Given the description of an element on the screen output the (x, y) to click on. 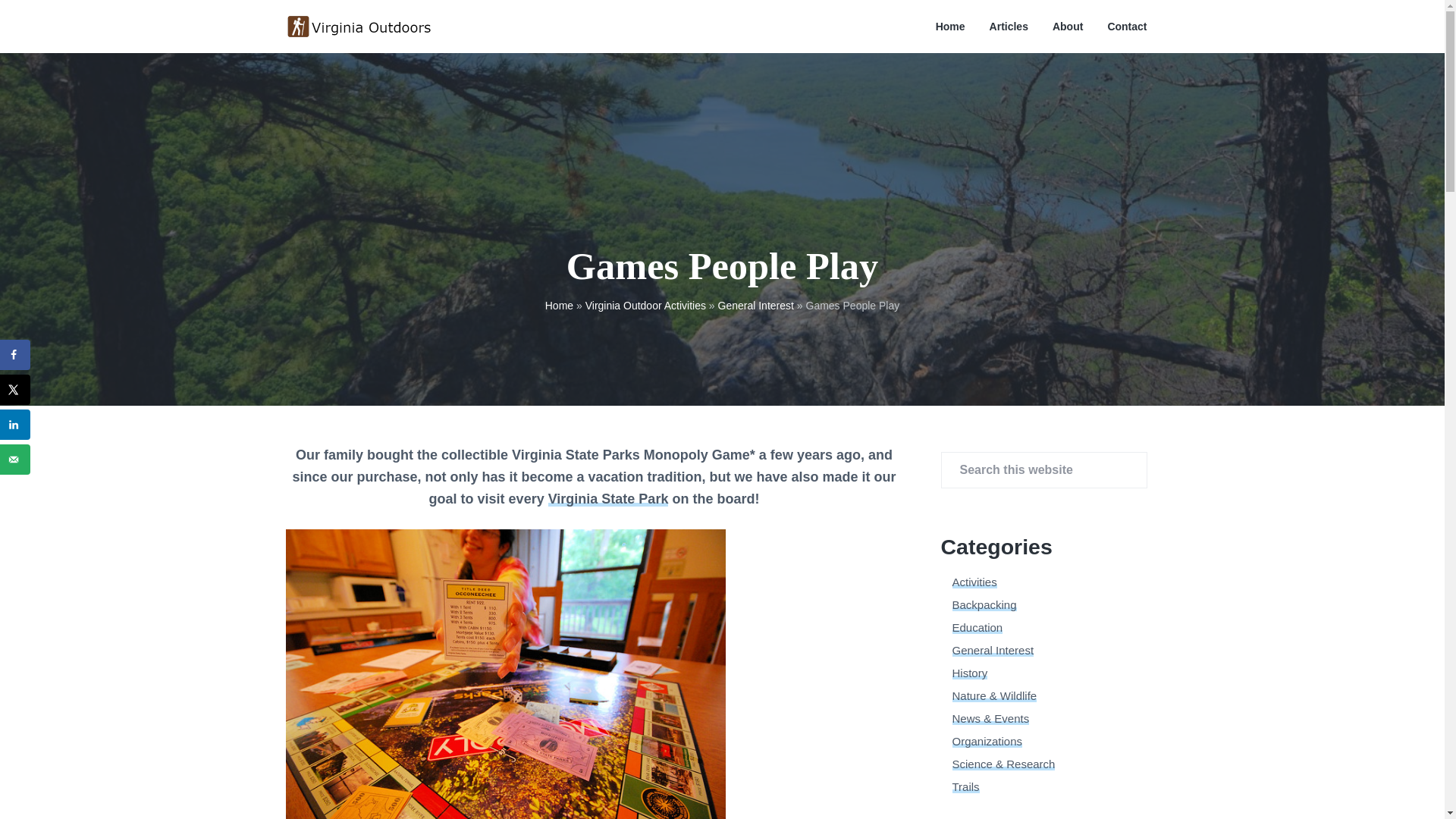
Articles (1008, 27)
Virginia Outdoor Activities (645, 305)
Backpacking (984, 604)
Contact (1126, 27)
General Interest (992, 649)
Activities (974, 581)
History (970, 672)
Home (558, 305)
Home (950, 27)
General Interest (755, 305)
